Given the description of an element on the screen output the (x, y) to click on. 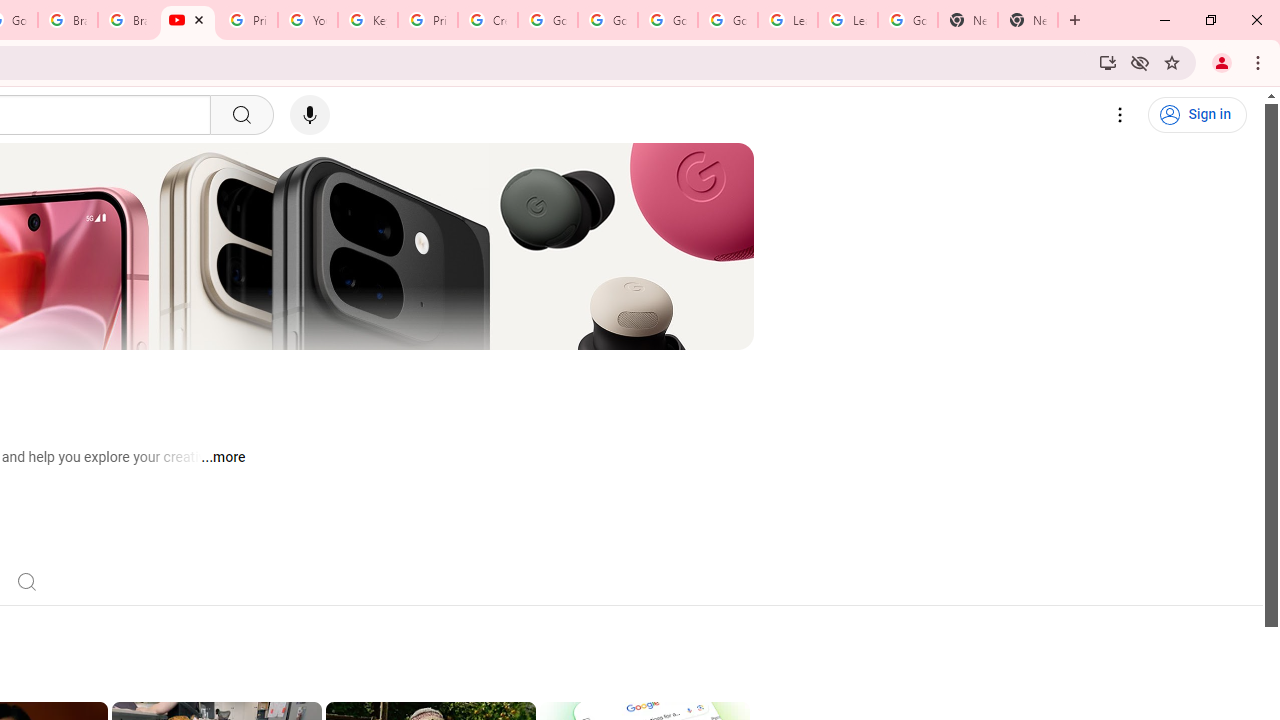
New Tab (968, 20)
Brand Resource Center (68, 20)
Google - YouTube (187, 20)
Create your Google Account (488, 20)
Google Account Help (548, 20)
Google Account Help (667, 20)
